Given the description of an element on the screen output the (x, y) to click on. 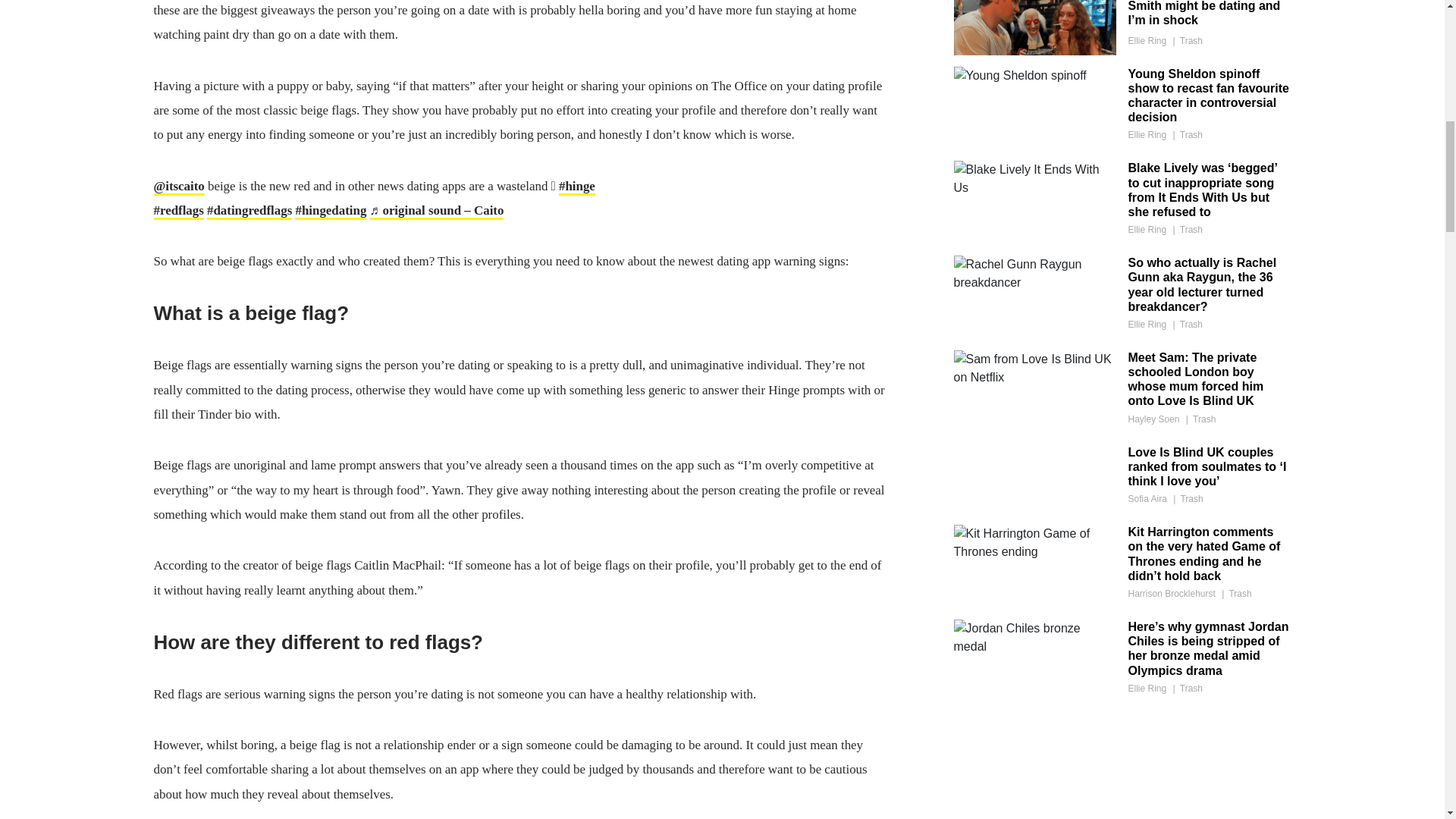
redflags (177, 211)
hingedating (330, 211)
datingredflags (249, 211)
hinge (577, 187)
